Given the description of an element on the screen output the (x, y) to click on. 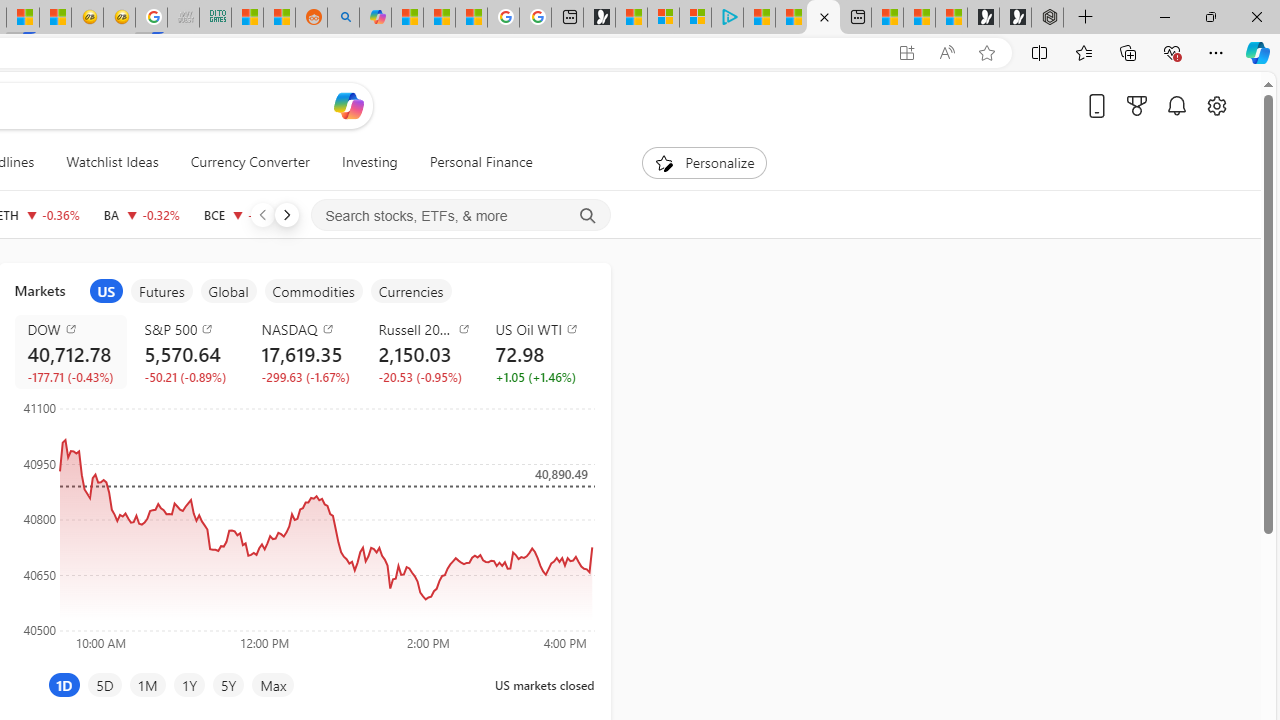
Currency Converter (249, 162)
App available. Install Start Money (906, 53)
Personal Finance (472, 162)
Currency Converter (250, 162)
Utah sues federal government - Search (343, 17)
